Given the description of an element on the screen output the (x, y) to click on. 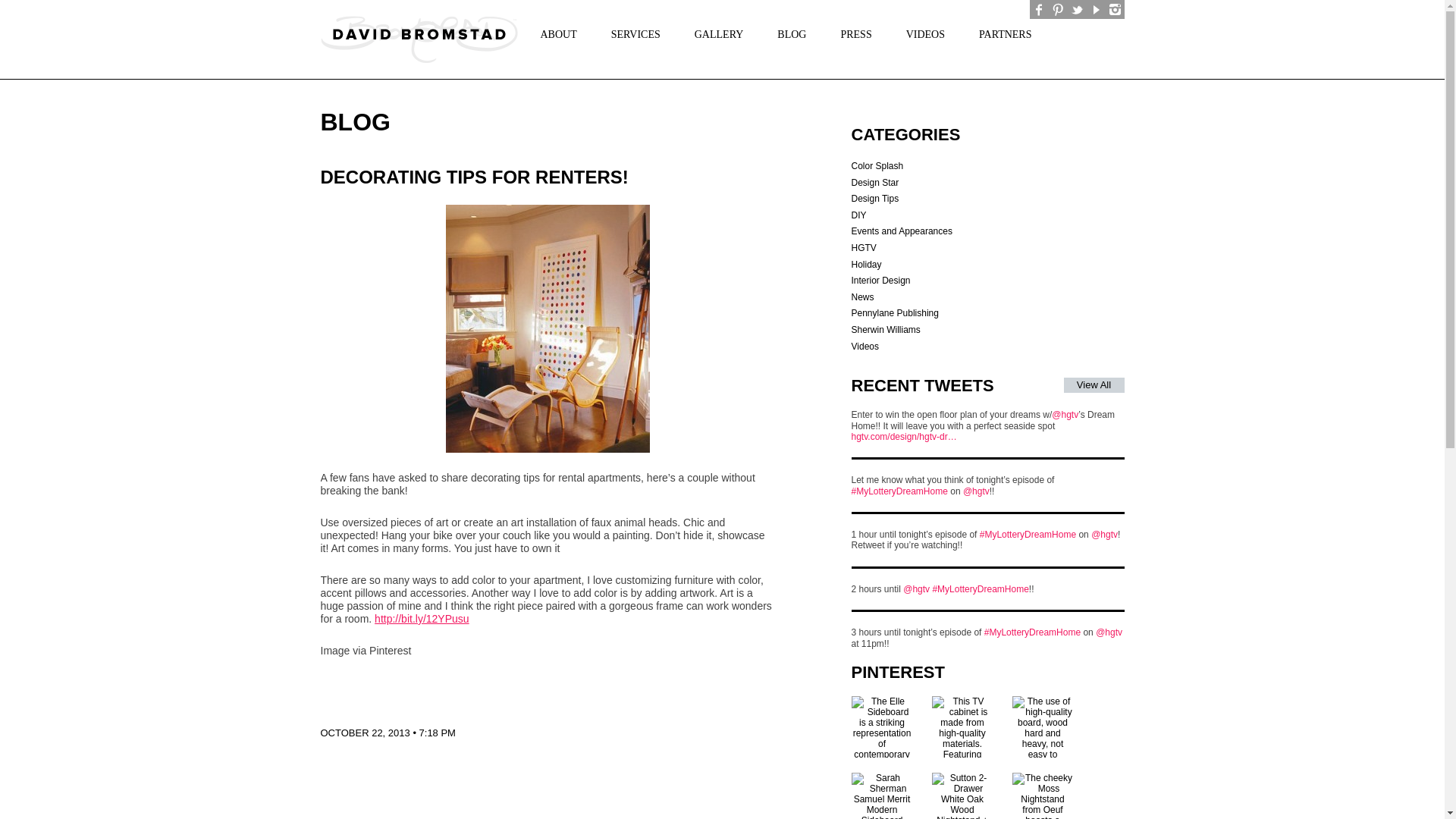
Design Tips (874, 198)
SERVICES (630, 34)
Holiday (865, 264)
770755aae8613b8e2e44721e3048fc3d (547, 328)
News (861, 296)
BLOG (785, 34)
HGTV (863, 247)
PRESS (849, 34)
VIDEOS (919, 34)
Follow David Bromstad on Instagram (1114, 9)
Pennylane Publishing (893, 312)
Follow David Bromstad on Twitter (1076, 9)
Interior Design (880, 280)
View All (1093, 385)
